Given the description of an element on the screen output the (x, y) to click on. 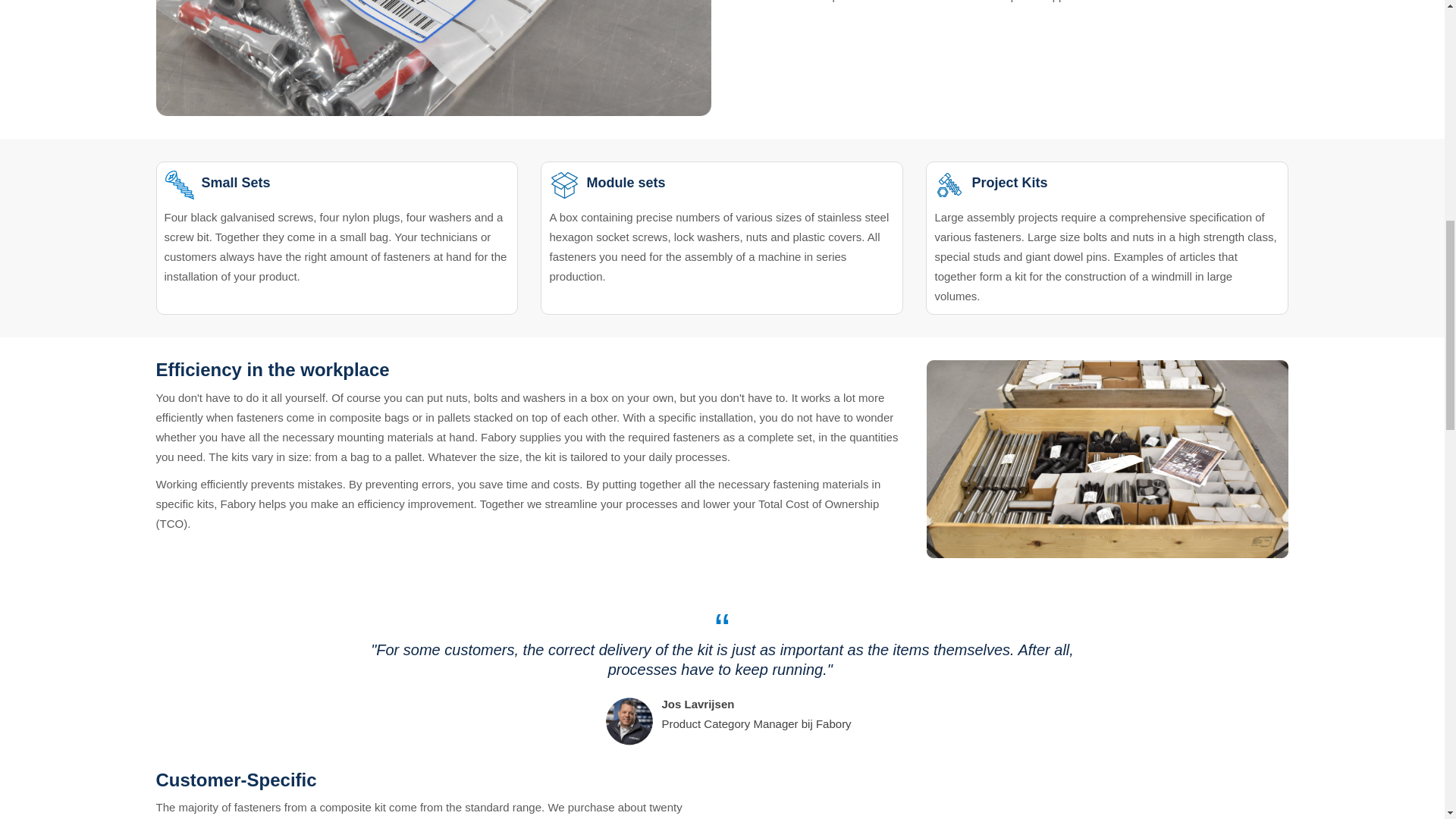
Kitzakje3.png (433, 58)
Kittingoverview.png (1107, 458)
YouTube video player (945, 794)
